Given the description of an element on the screen output the (x, y) to click on. 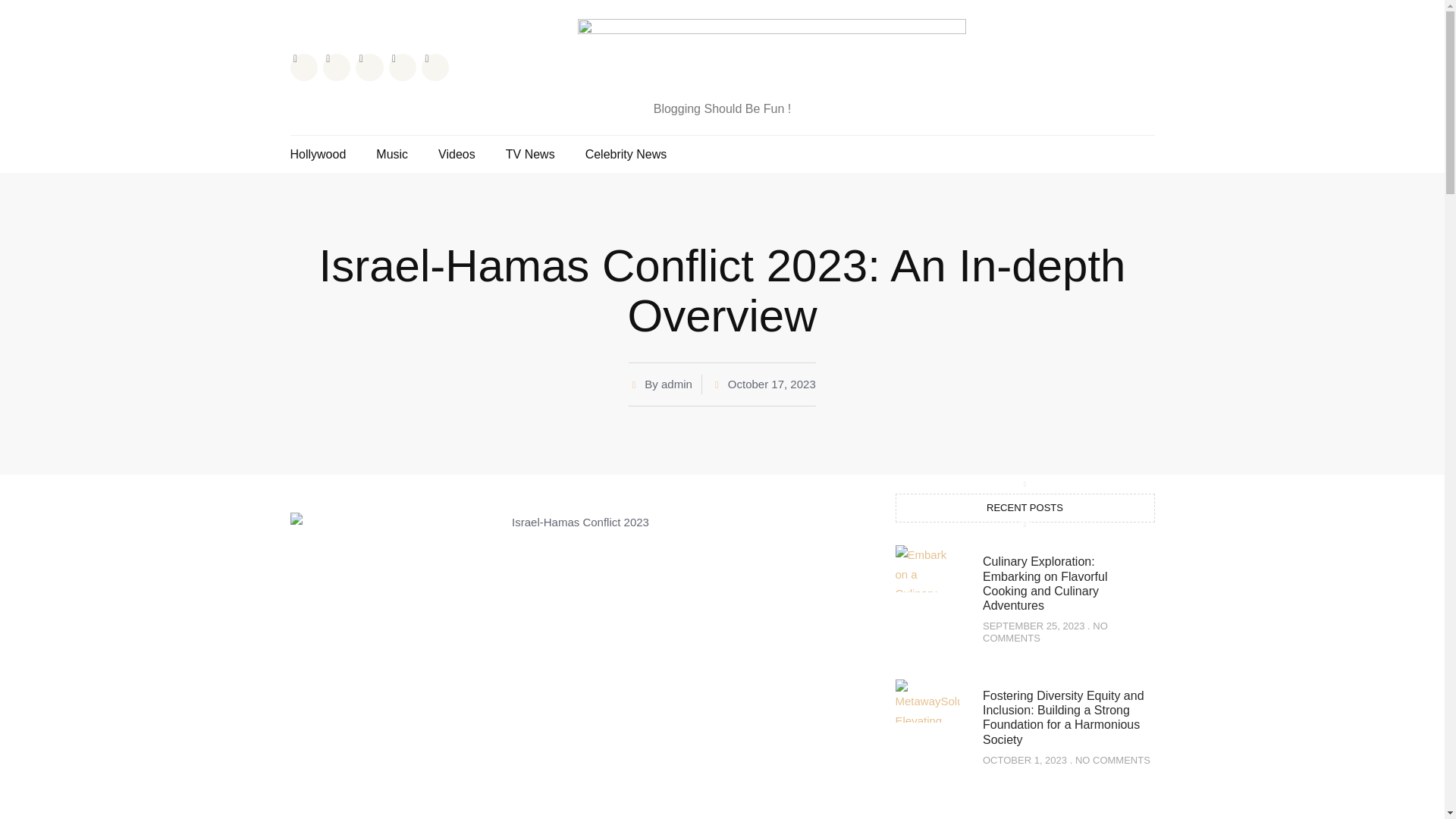
TV News (529, 154)
Hollywood (317, 154)
Celebrity News (625, 154)
Music (391, 154)
October 17, 2023 (763, 383)
By admin (660, 383)
Videos (457, 154)
